Given the description of an element on the screen output the (x, y) to click on. 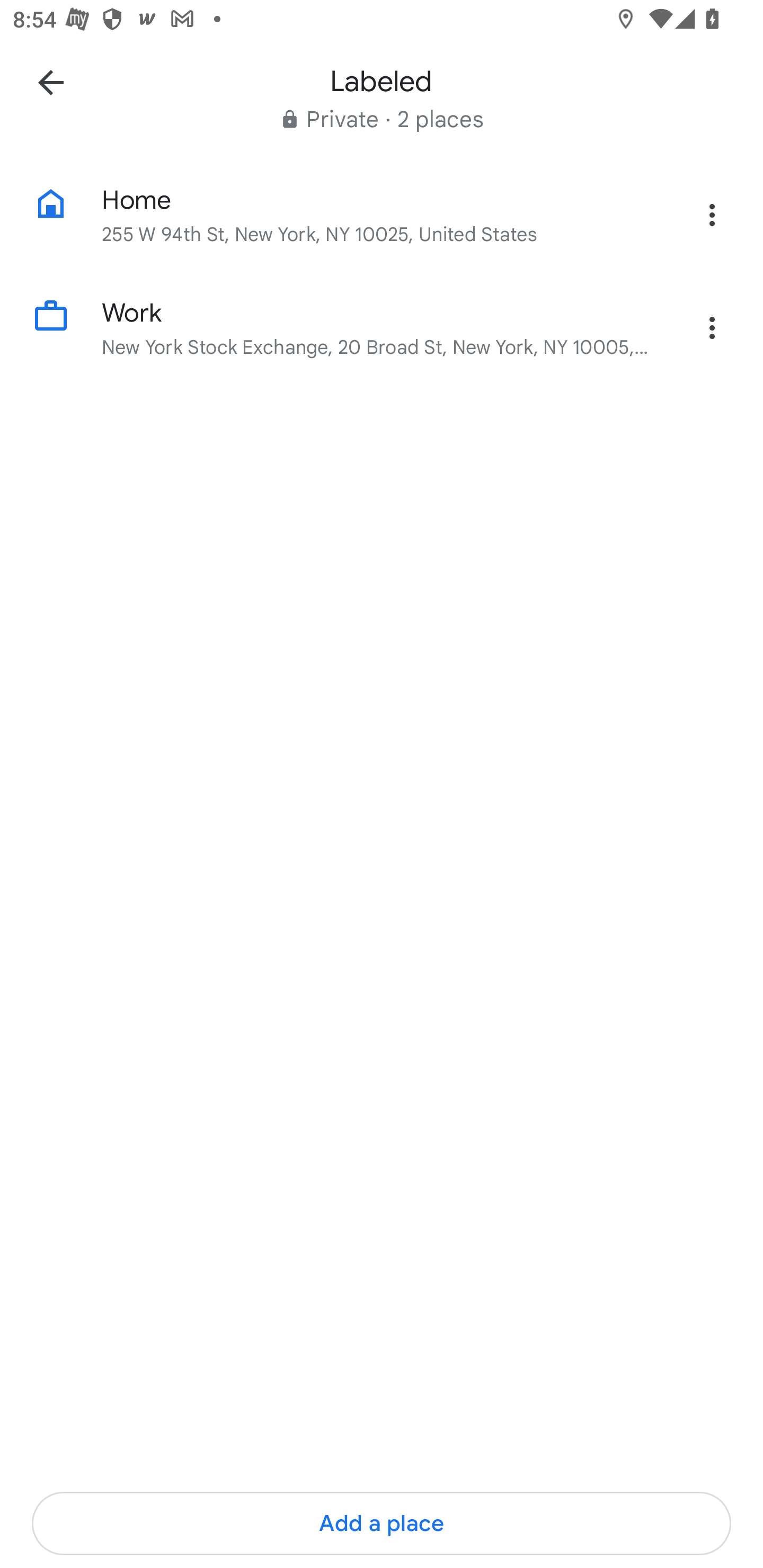
Navigate up (50, 81)
Options for Home (711, 214)
Options for Work (711, 327)
Add a place Add a place Add a place (381, 1522)
